Given the description of an element on the screen output the (x, y) to click on. 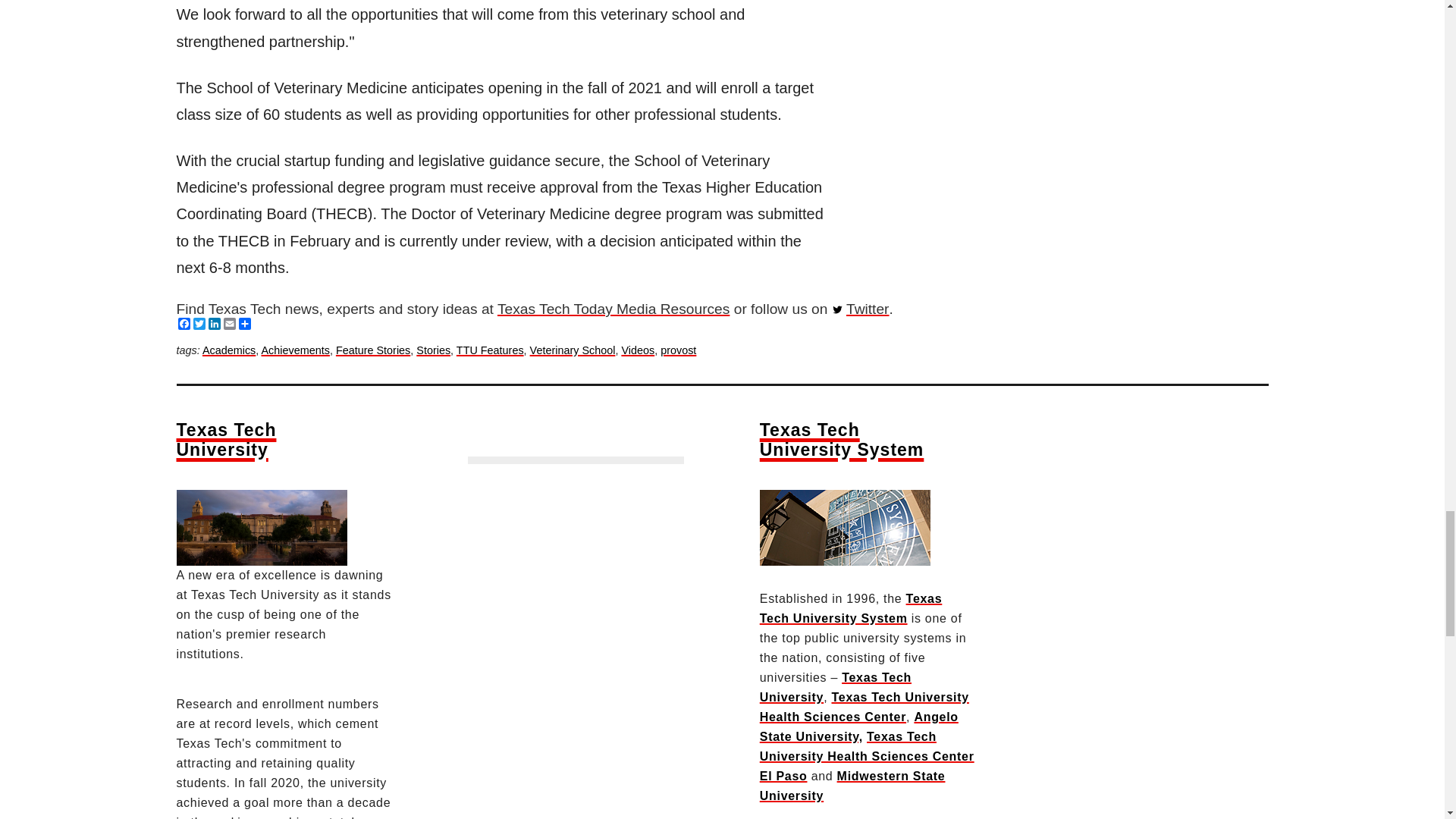
Facebook (183, 323)
Email (228, 323)
Texas Tech Today Media Resources (613, 308)
LinkedIn (213, 323)
Twitter (198, 323)
Twitter (867, 308)
Share (243, 323)
